Given the description of an element on the screen output the (x, y) to click on. 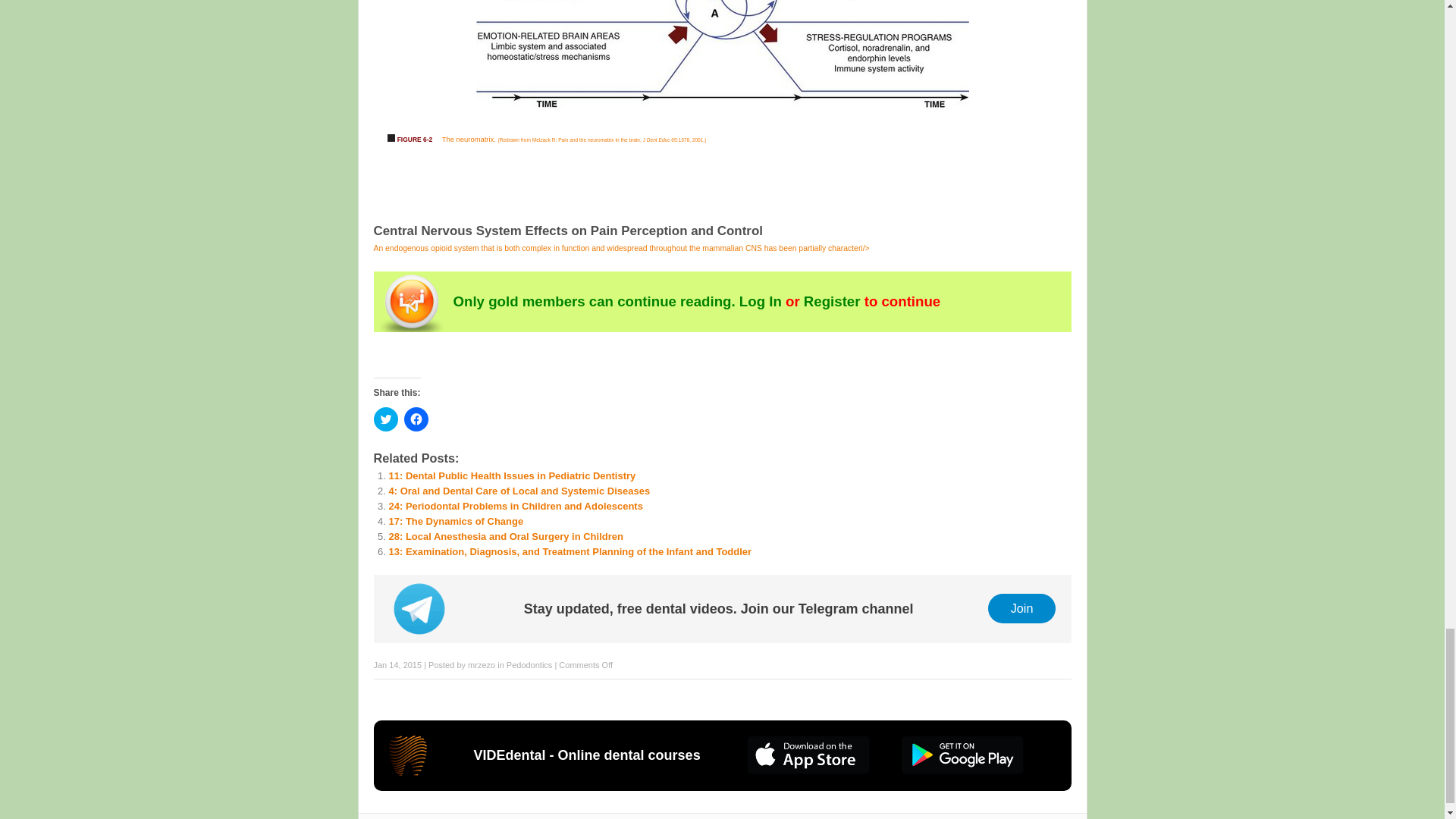
28: Local Anesthesia and Oral Surgery in Children (505, 536)
Posts by mrzezo (481, 664)
24: Periodontal Problems in Children and Adolescents (515, 505)
11: Dental Public Health Issues in Pediatric Dentistry (511, 475)
4: Oral and Dental Care of Local and Systemic Diseases (518, 490)
Click to share on Twitter (384, 419)
Click to share on Facebook (415, 419)
17: The Dynamics of Change (455, 521)
